Given the description of an element on the screen output the (x, y) to click on. 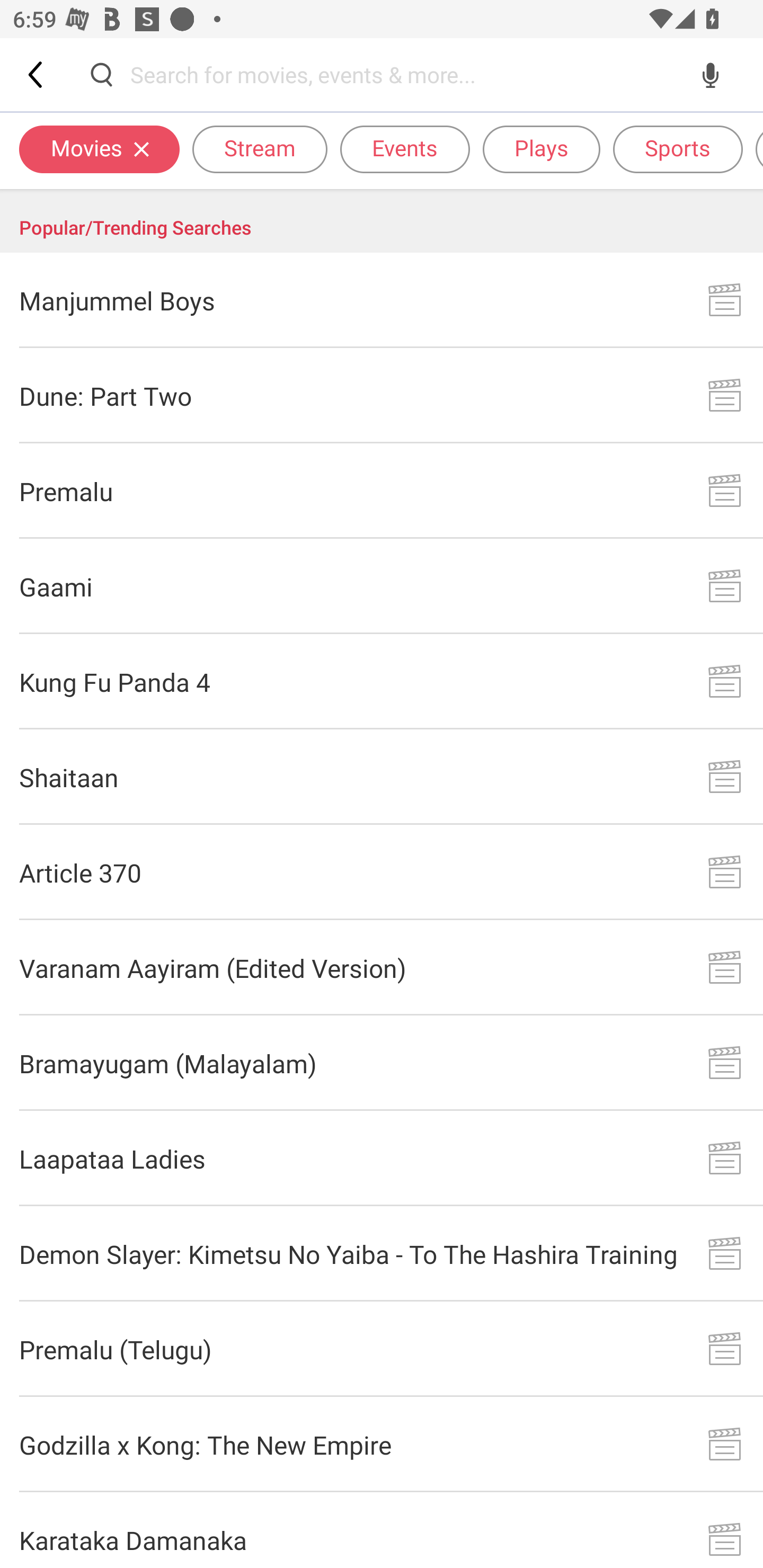
Back (36, 74)
Search for movies, events & more... (406, 74)
Movies Clear (99, 148)
Stream (259, 148)
Events (405, 148)
Plays (541, 148)
Sports (677, 148)
Popular/Trending Searches (381, 220)
Manjummel Boys (381, 300)
Dune: Part Two (381, 395)
Premalu (381, 491)
Gaami (381, 586)
Kung Fu Panda 4 (381, 681)
Shaitaan (381, 776)
Article 370 (381, 872)
Varanam Aayiram (Edited Version) (381, 968)
Bramayugam (Malayalam) (381, 1063)
Laapataa Ladies (381, 1157)
Premalu (Telugu) (381, 1349)
Godzilla x Kong: The New Empire (381, 1444)
Karataka Damanaka (381, 1530)
